Given the description of an element on the screen output the (x, y) to click on. 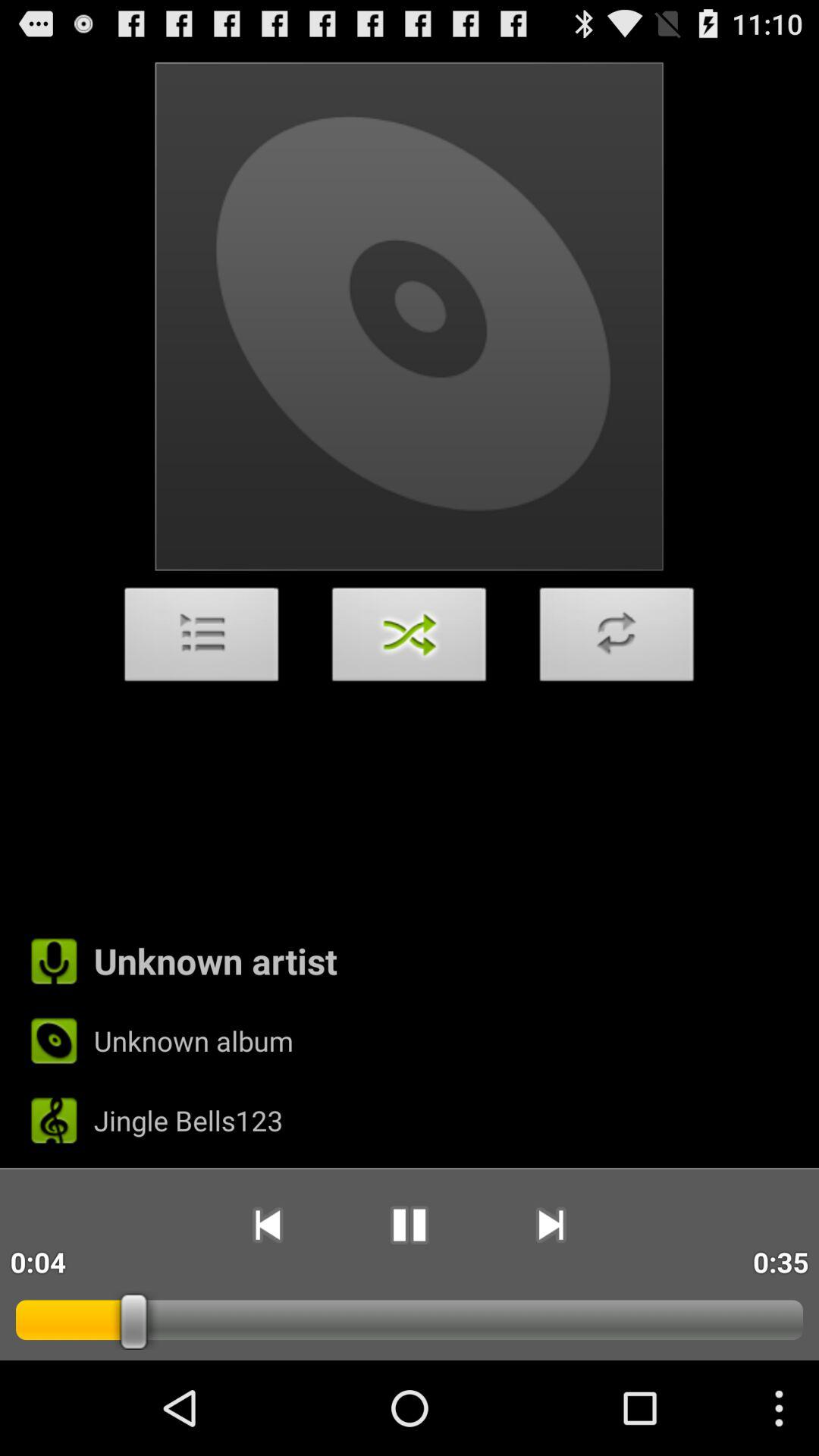
turn on the app to the left of the 0:35 (550, 1224)
